Given the description of an element on the screen output the (x, y) to click on. 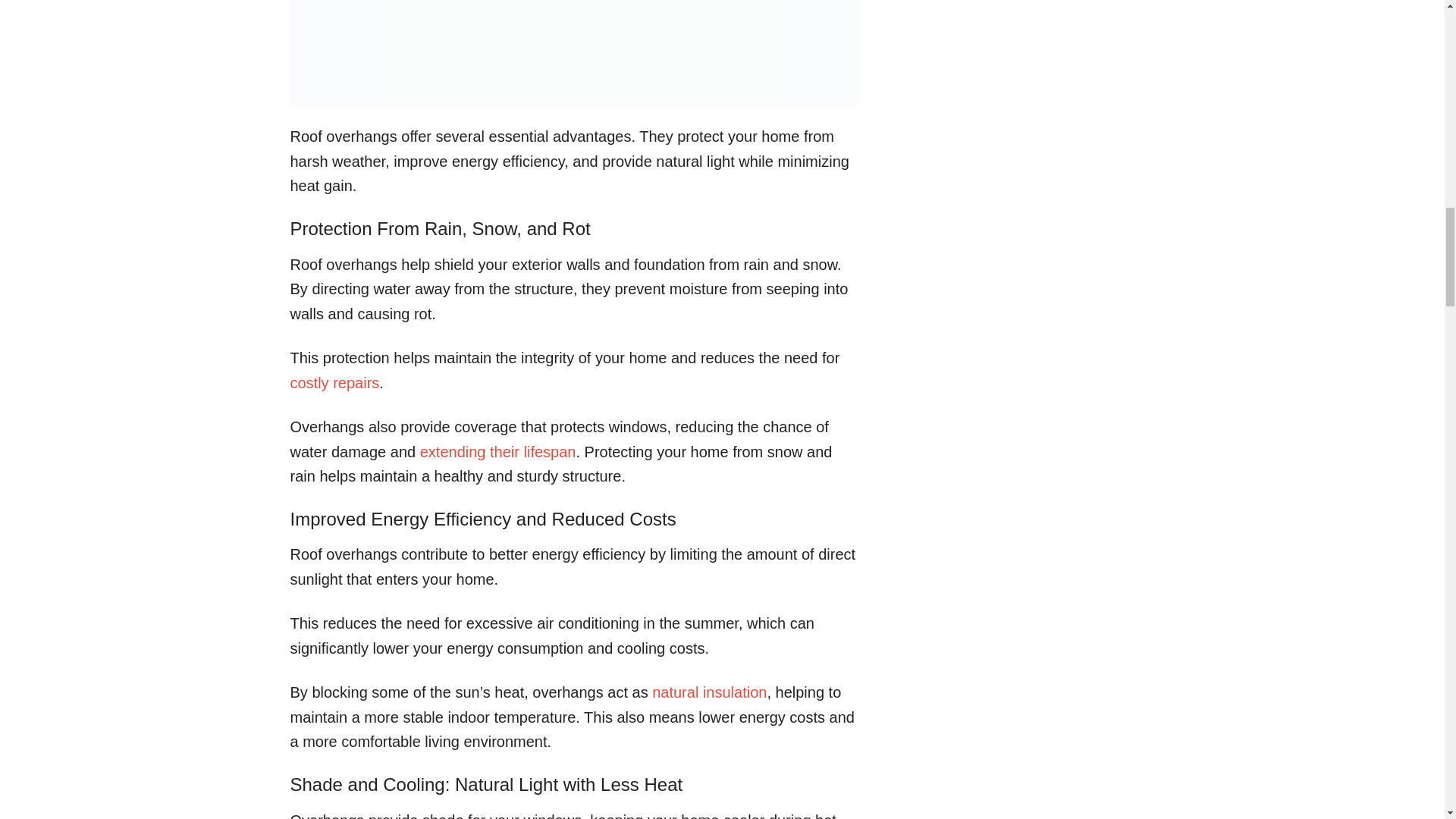
natural insulation (709, 692)
extending their lifespan (498, 451)
costly repairs (333, 382)
